Given the description of an element on the screen output the (x, y) to click on. 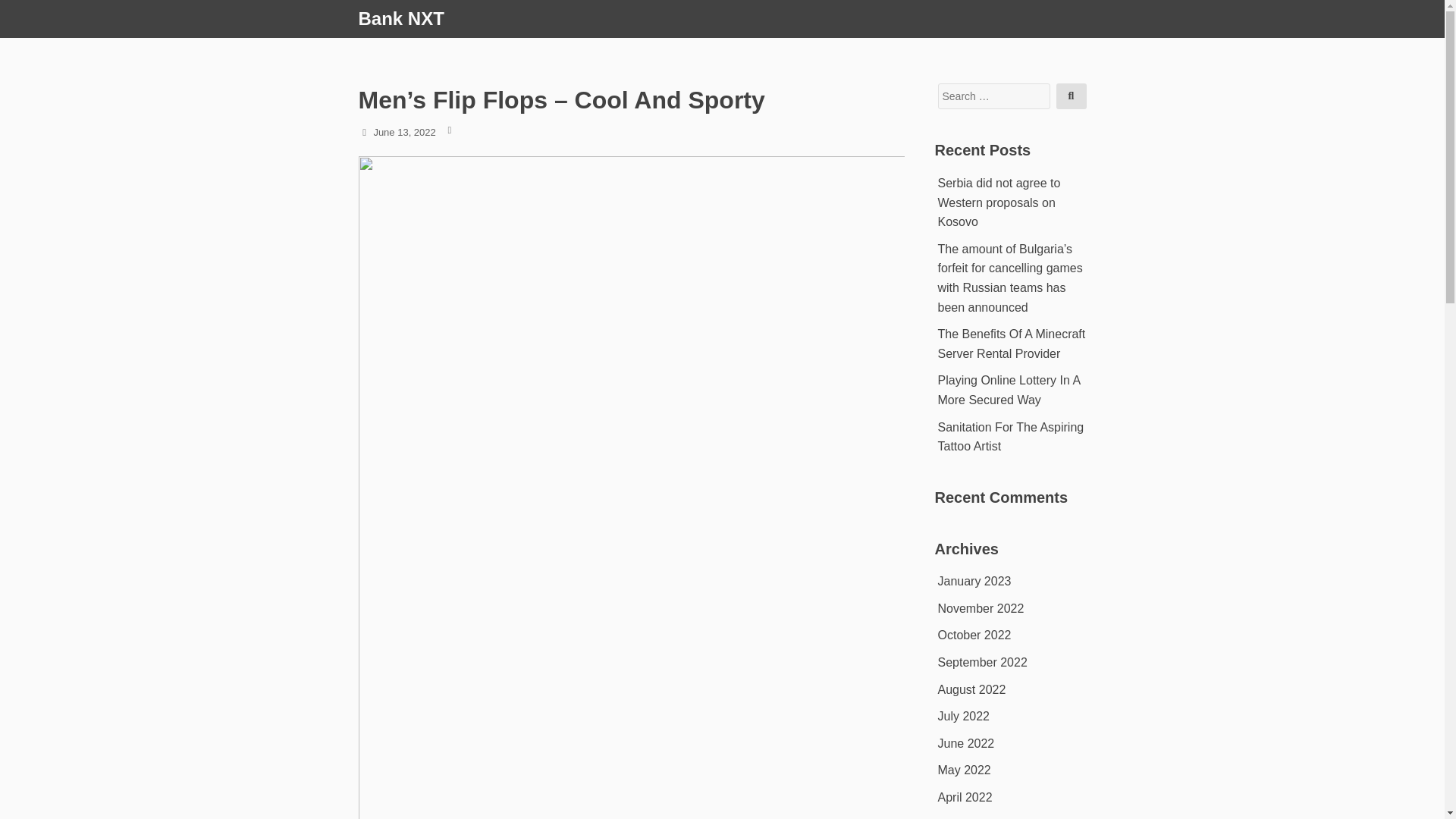
Playing Online Lottery In A More Secured Way (1008, 389)
July 2022 (963, 716)
Bank NXT (401, 18)
The Benefits Of A Minecraft Server Rental Provider (1010, 343)
Sanitation For The Aspiring Tattoo Artist (1010, 436)
Search (1070, 95)
Serbia did not agree to Western proposals on Kosovo (998, 202)
June 13, 2022 (403, 132)
June 2022 (965, 743)
October 2022 (973, 634)
